Given the description of an element on the screen output the (x, y) to click on. 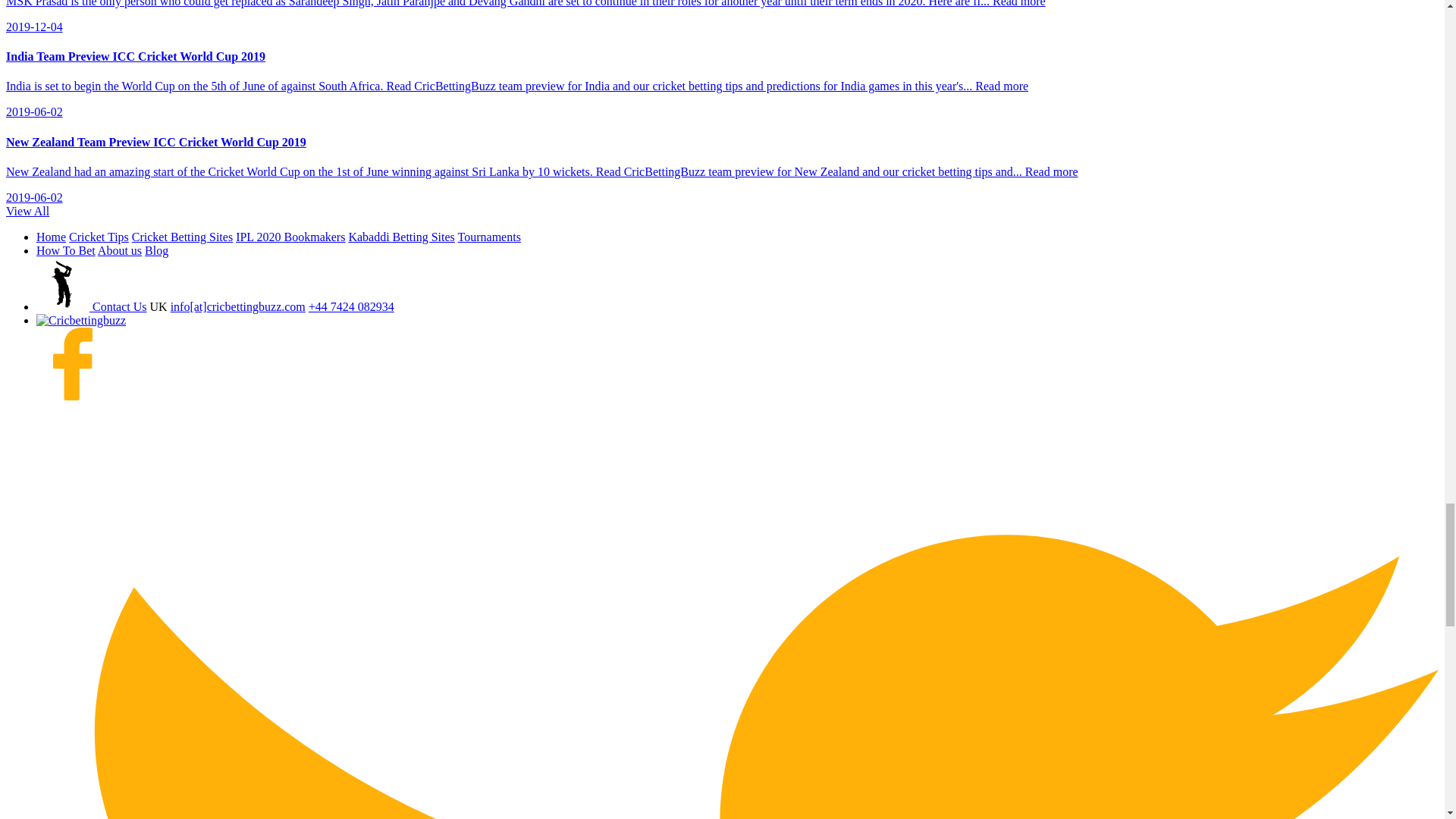
Cricket Tips (98, 236)
View All (27, 210)
Cricket Betting Sites (182, 236)
IPL 2020 Bookmakers (290, 236)
Home (50, 236)
